Given the description of an element on the screen output the (x, y) to click on. 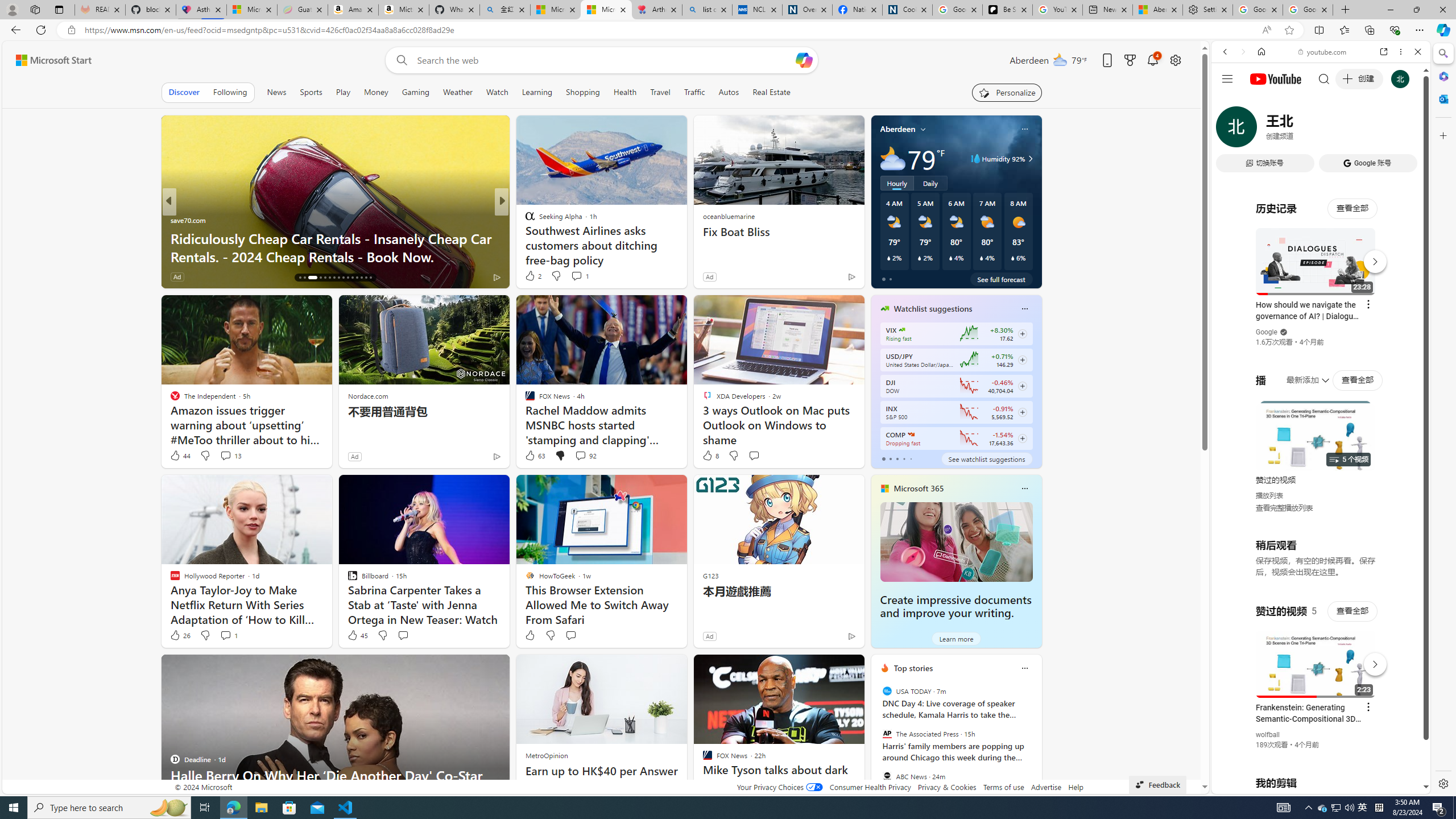
Scripps News (524, 219)
New tab (1107, 9)
25 Like (530, 276)
Discover (183, 92)
My location (922, 128)
Home (1261, 51)
View comments 25 Comment (576, 276)
AutomationID: tab-30 (370, 277)
View comments 20 Comment (580, 276)
